Given the description of an element on the screen output the (x, y) to click on. 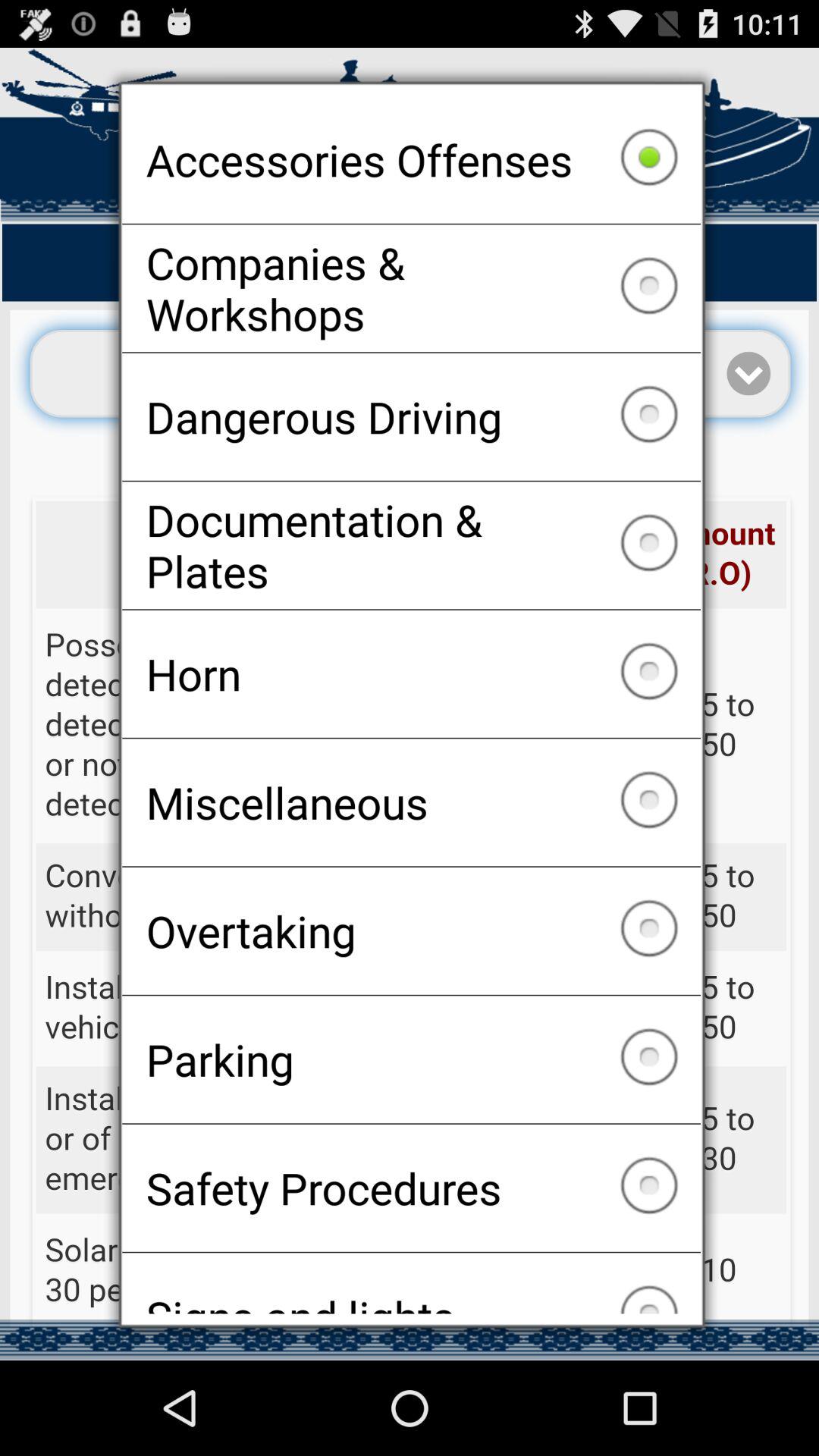
open signs and lights icon (411, 1282)
